Given the description of an element on the screen output the (x, y) to click on. 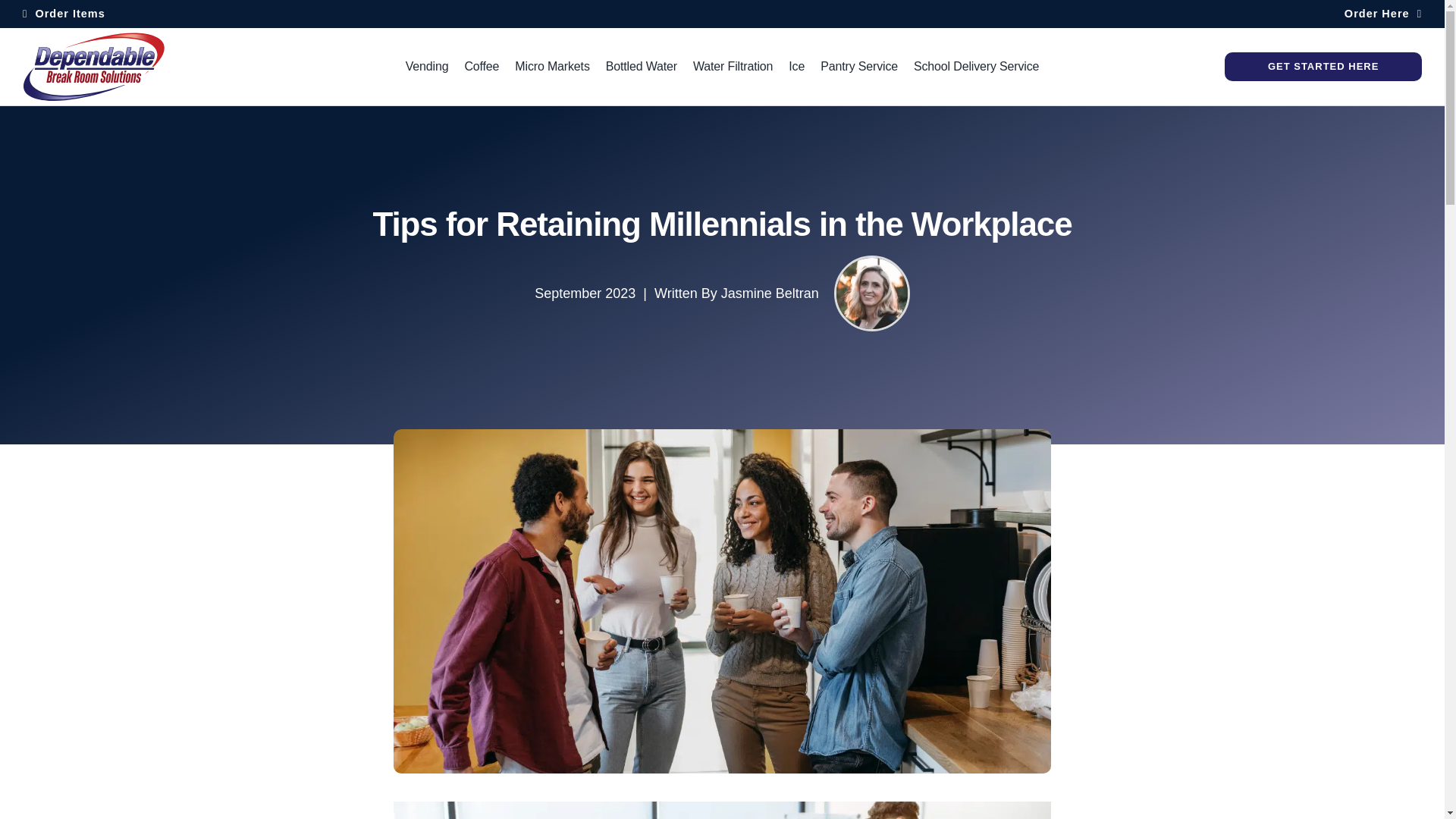
Micro Markets (552, 66)
Order Items (63, 13)
Order Here (1382, 13)
Dependable Profile (871, 293)
Vending (427, 66)
